Given the description of an element on the screen output the (x, y) to click on. 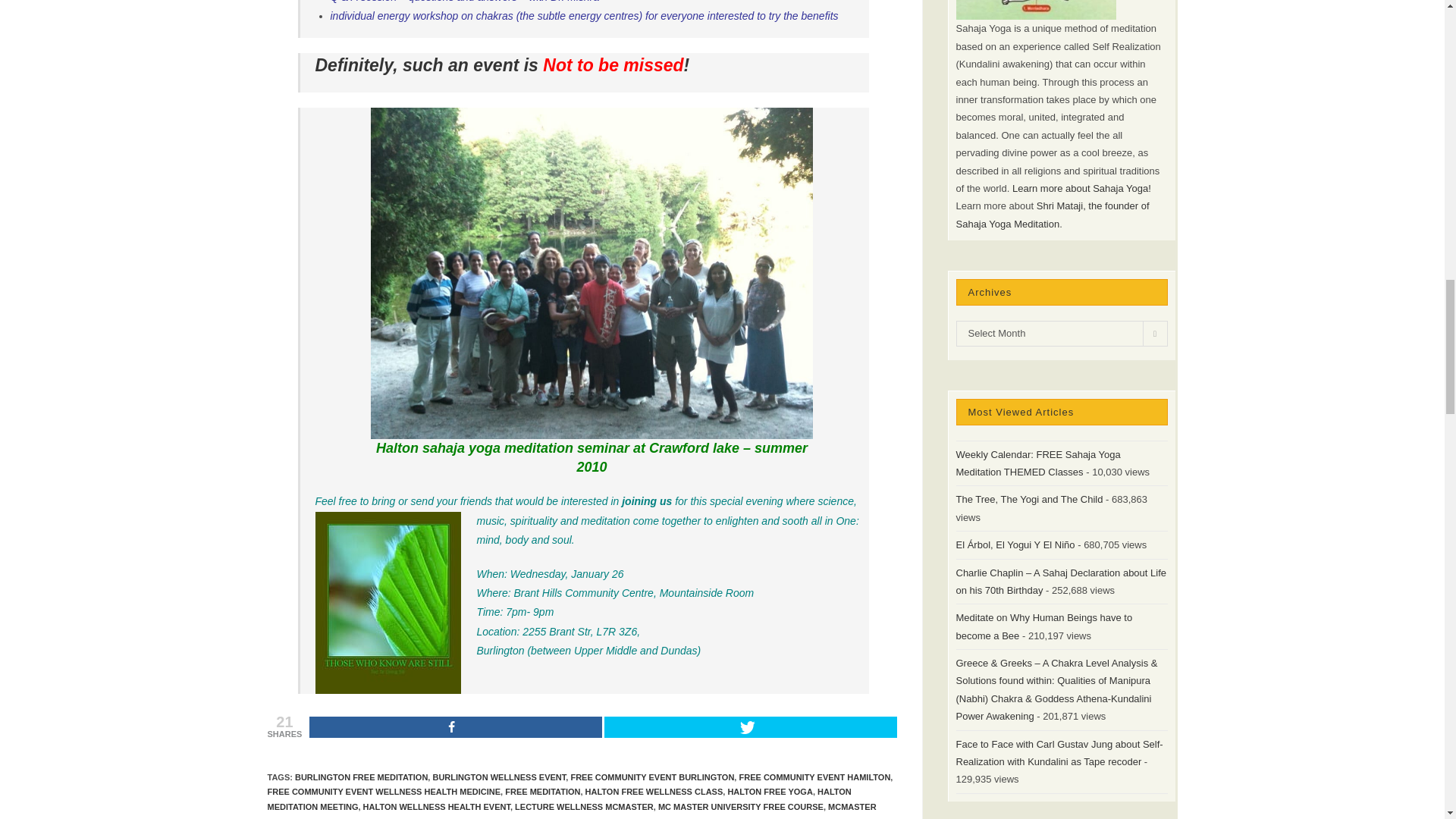
The Tree, The Yogi and The Child (1028, 499)
Weekly Calendar: FREE Sahaja Yoga Meditation THEMED Classes (1037, 462)
Meditate on Why Human Beings have to become a Bee (1043, 625)
